Given the description of an element on the screen output the (x, y) to click on. 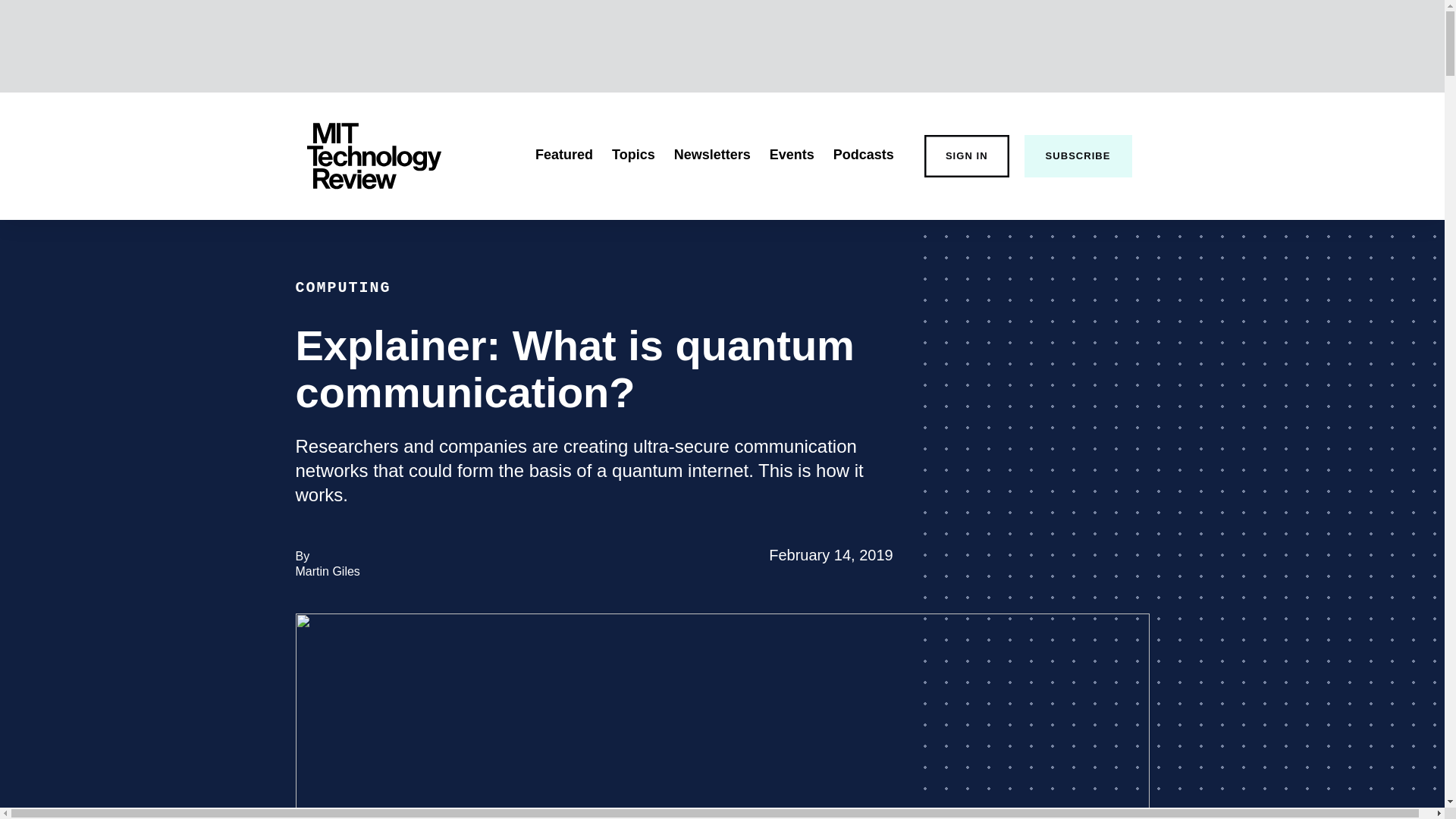
Newsletters (712, 154)
COMPUTING (327, 571)
Topics (343, 287)
SUBSCRIBE (633, 154)
MIT Technology Review (1078, 156)
Featured (373, 155)
SIGN IN (563, 154)
Events (966, 156)
Podcasts (791, 154)
